Given the description of an element on the screen output the (x, y) to click on. 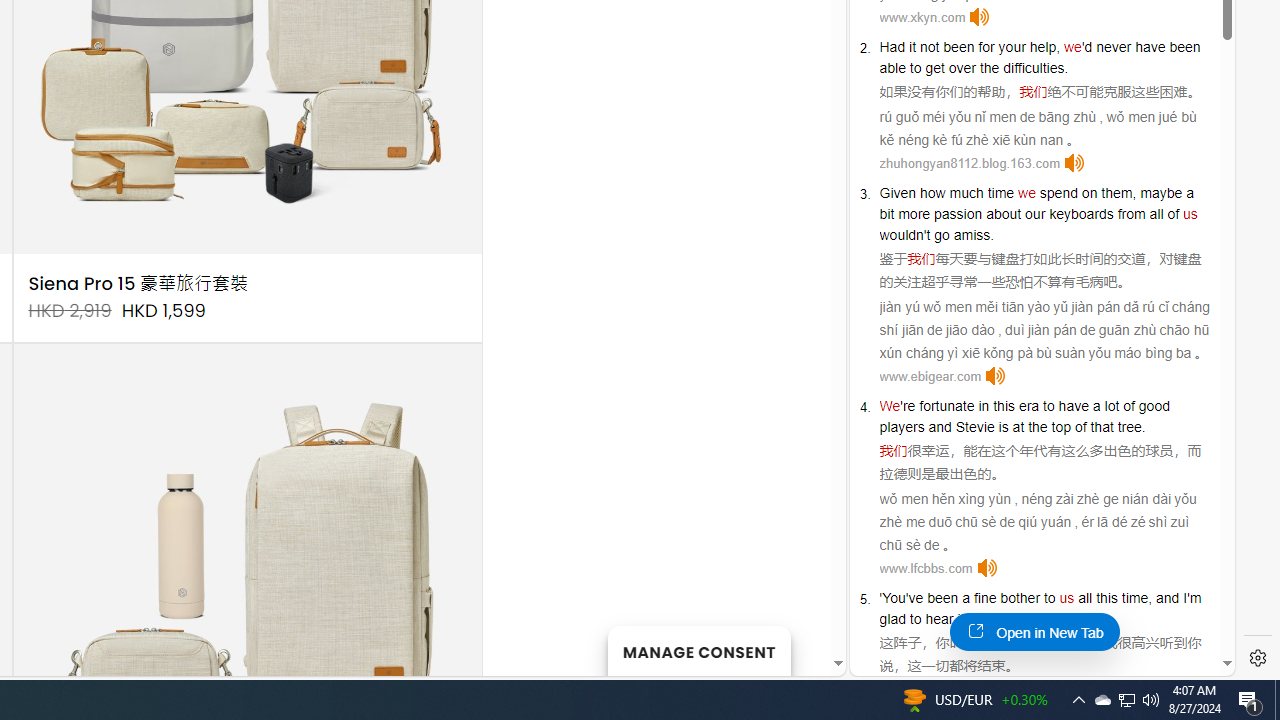
from (1131, 213)
us (1066, 597)
never (1113, 46)
maybe (1161, 192)
